Given the description of an element on the screen output the (x, y) to click on. 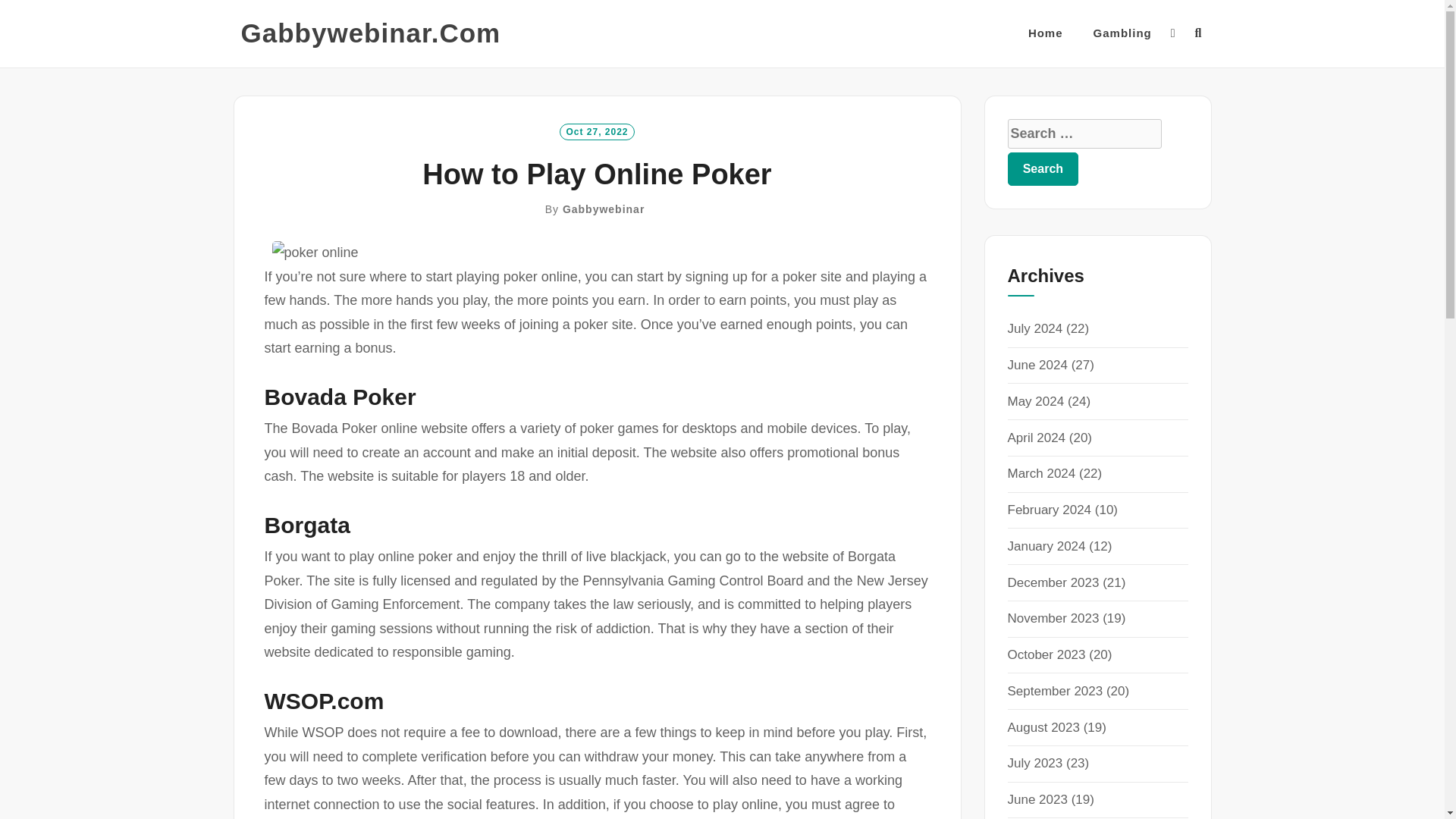
November 2023 (1053, 617)
March 2024 (1041, 473)
June 2023 (1037, 799)
June 2024 (1037, 364)
July 2024 (1034, 328)
July 2023 (1034, 762)
Gabbywebinar.Com (370, 33)
October 2023 (1045, 654)
Search (1042, 168)
Search (1042, 168)
Oct 27, 2022 (596, 130)
April 2024 (1036, 437)
Home (1044, 33)
September 2023 (1054, 690)
December 2023 (1053, 582)
